Given the description of an element on the screen output the (x, y) to click on. 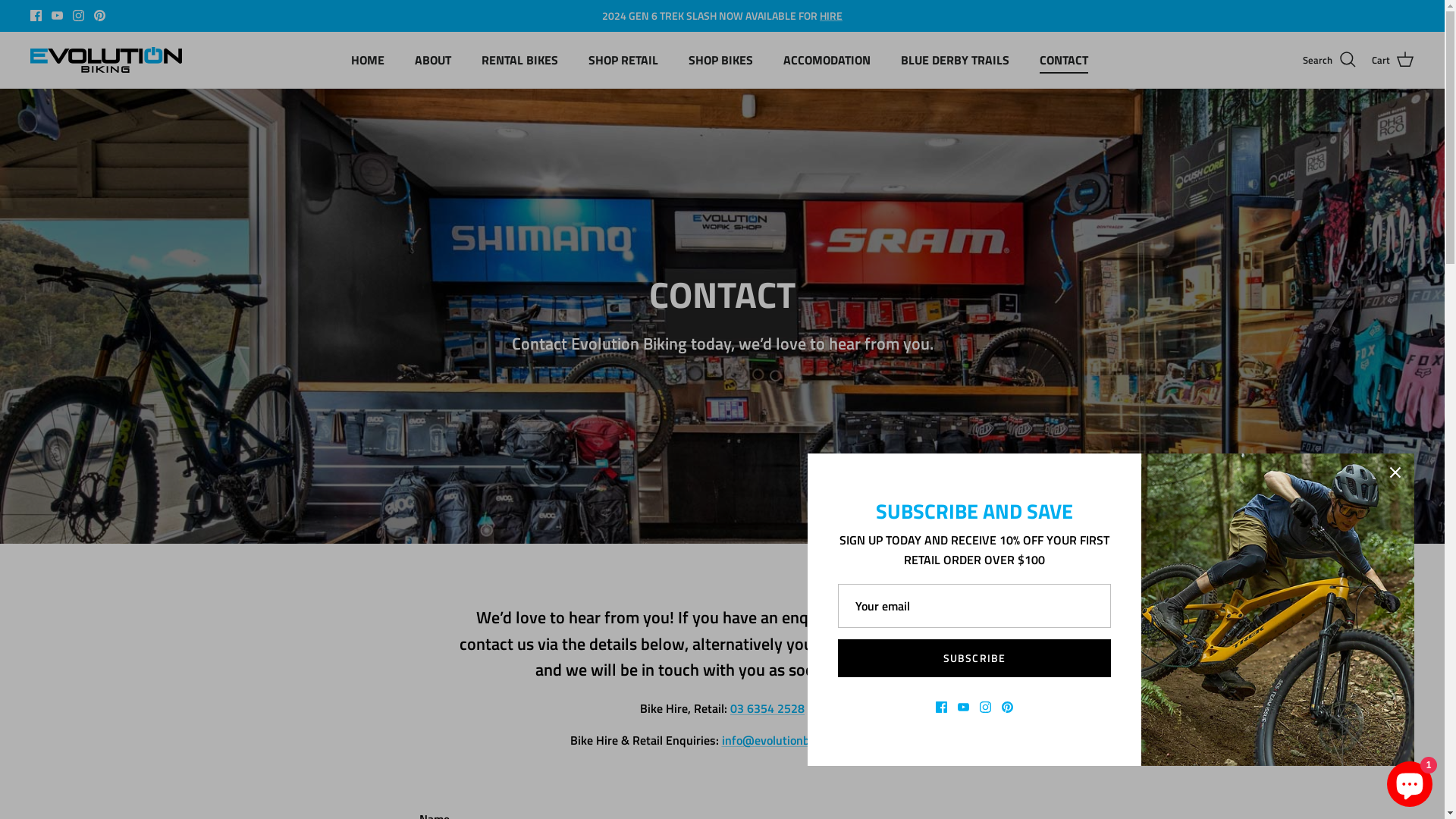
Facebook Element type: text (35, 15)
info@evolutionbiking.com.au Element type: text (798, 740)
RENTAL BIKES Element type: text (519, 59)
Shopify online store chat Element type: hover (1409, 780)
SHOP RETAIL Element type: text (622, 59)
ACCOMODATION Element type: text (826, 59)
HOME Element type: text (367, 59)
ABOUT Element type: text (432, 59)
Cart Element type: text (1392, 59)
Instagram Element type: text (78, 15)
CONTACT Element type: text (1063, 59)
Evolution Biking Element type: hover (106, 59)
03 6354 2528 Element type: text (767, 708)
Search Element type: text (1329, 59)
SUBSCRIBE Element type: text (973, 658)
Youtube Element type: text (56, 15)
ORDERS Element type: text (744, 15)
BLUE DERBY TRAILS Element type: text (954, 59)
Pinterest Element type: text (99, 15)
SHOP BIKES Element type: text (720, 59)
